Given the description of an element on the screen output the (x, y) to click on. 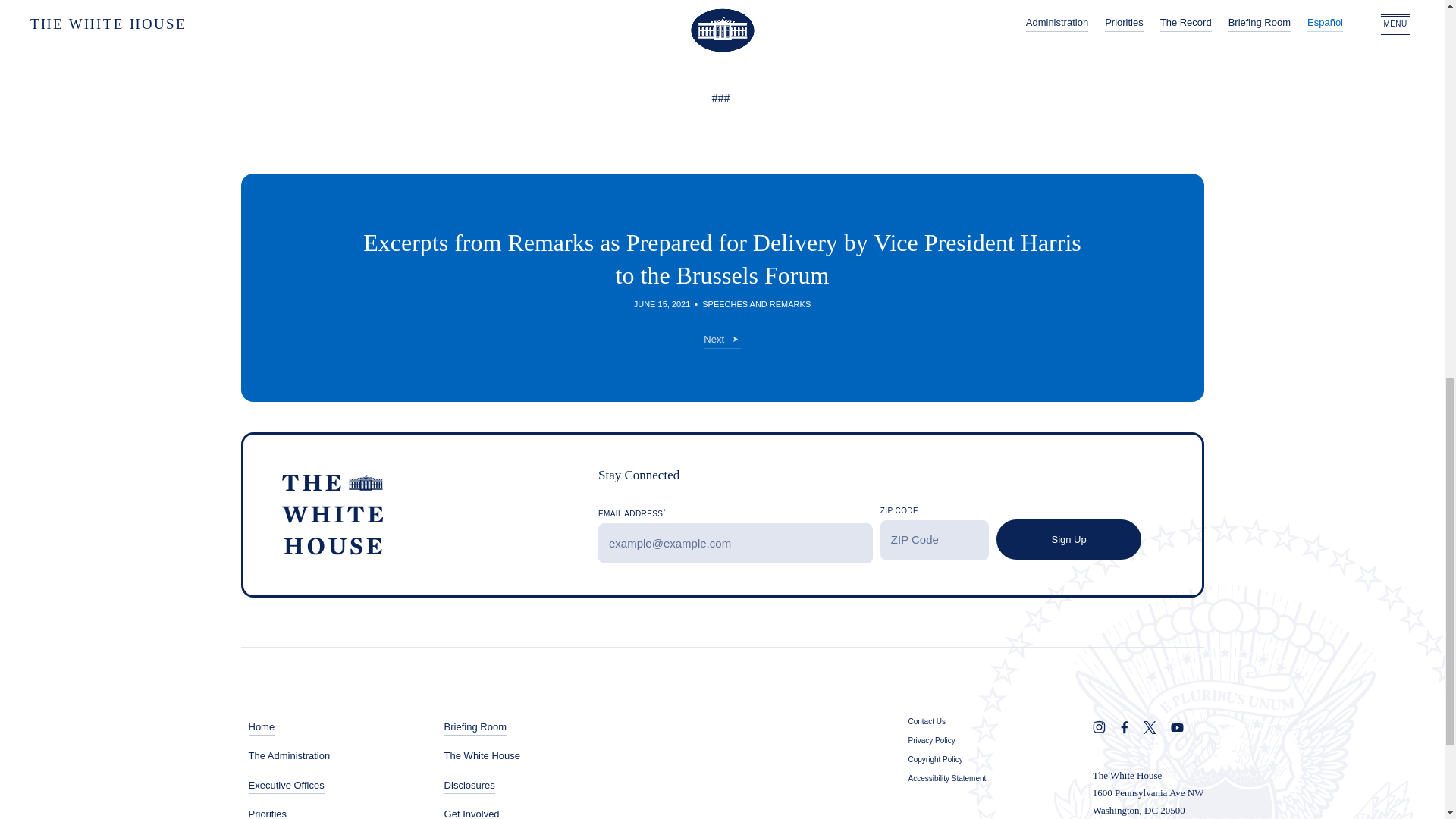
Sign Up (1068, 539)
